Given the description of an element on the screen output the (x, y) to click on. 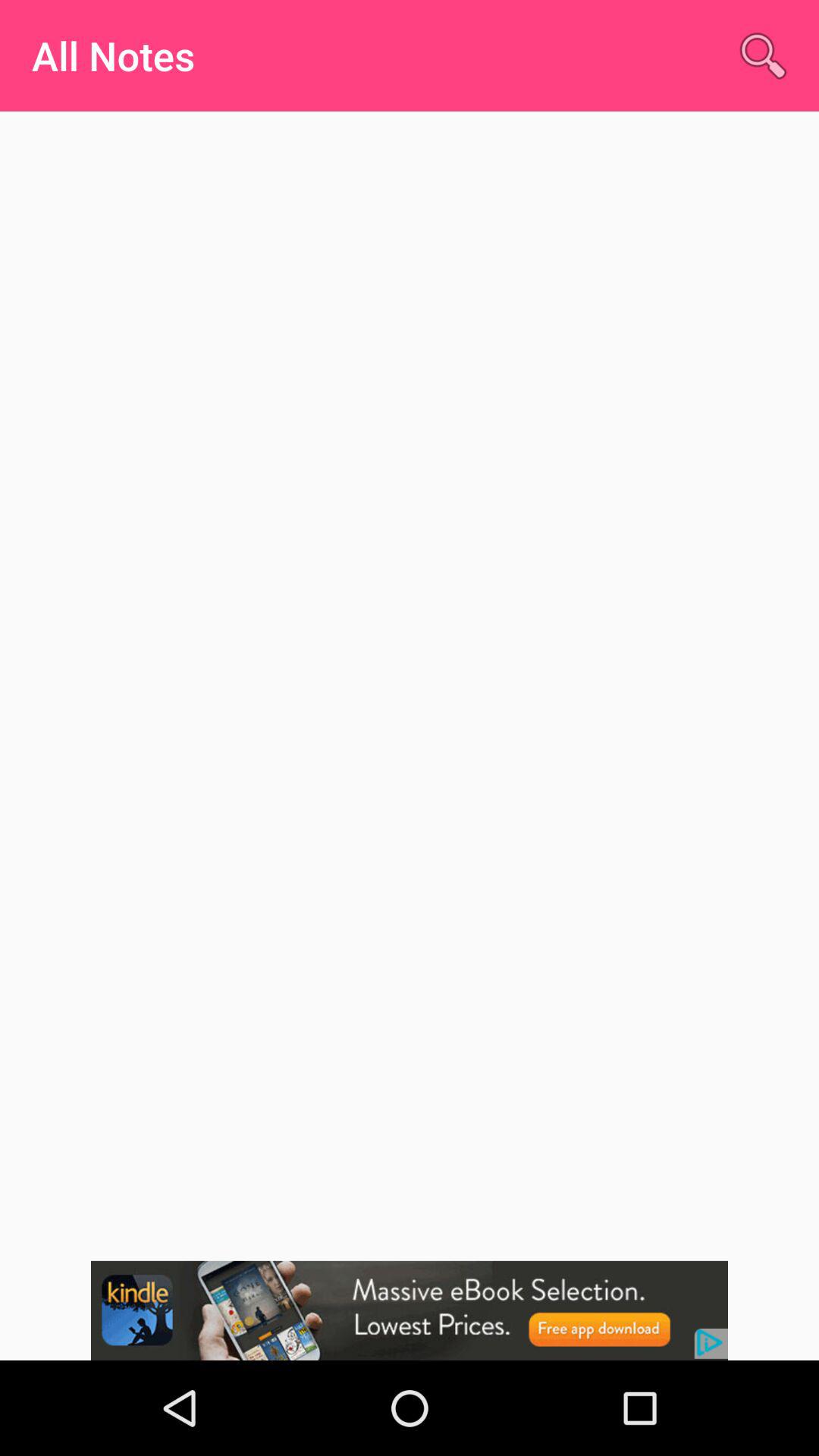
showing the advertisement (409, 1310)
